Given the description of an element on the screen output the (x, y) to click on. 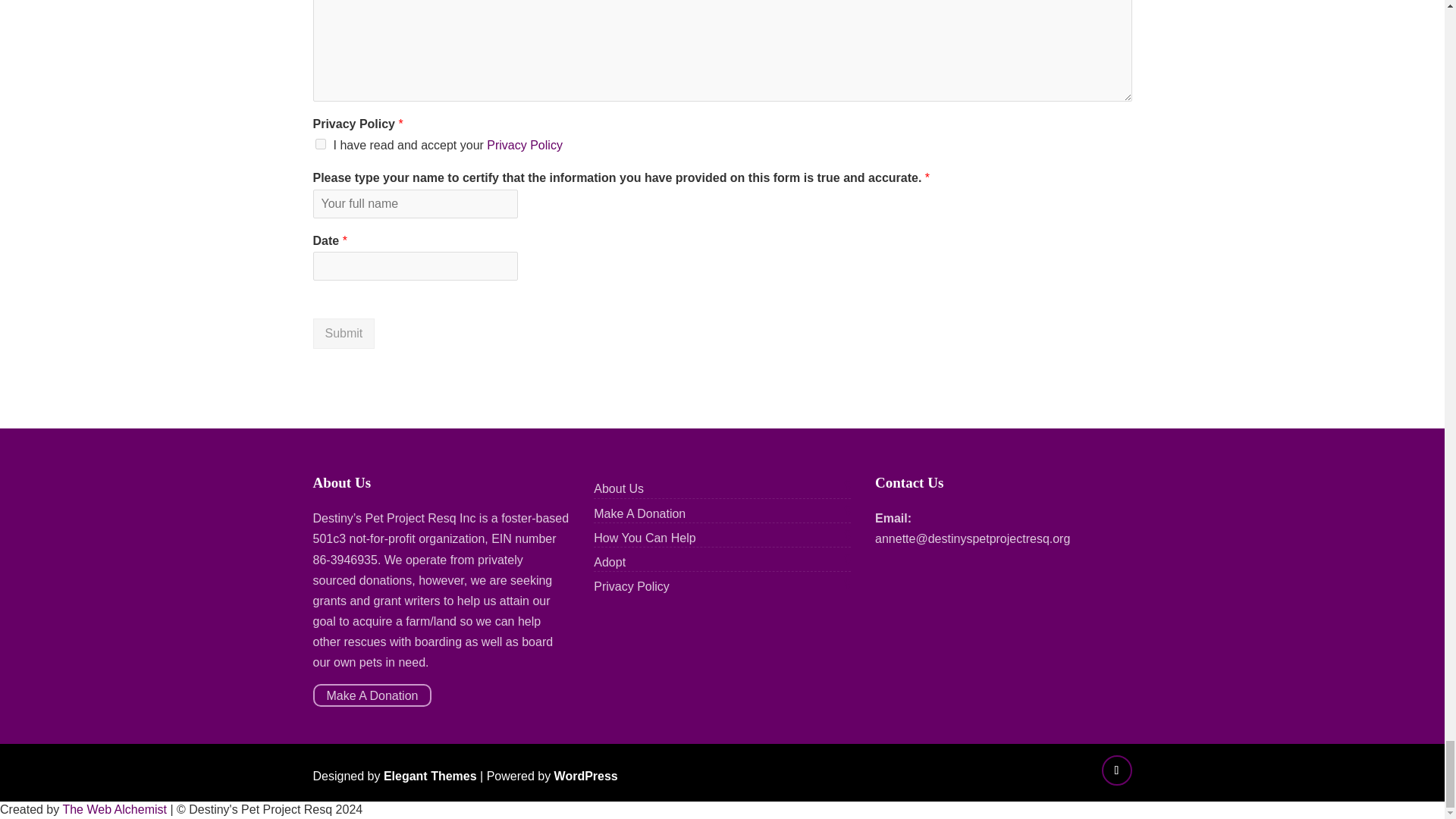
Make A Donation (371, 695)
Make A Donation (639, 513)
Elegant Themes (430, 775)
About Us (618, 488)
Adopt (610, 562)
Privacy Policy (631, 585)
Premium WordPress Themes (430, 775)
Submit (343, 333)
WordPress (585, 775)
Privacy Policy (524, 144)
How You Can Help (644, 537)
